Given the description of an element on the screen output the (x, y) to click on. 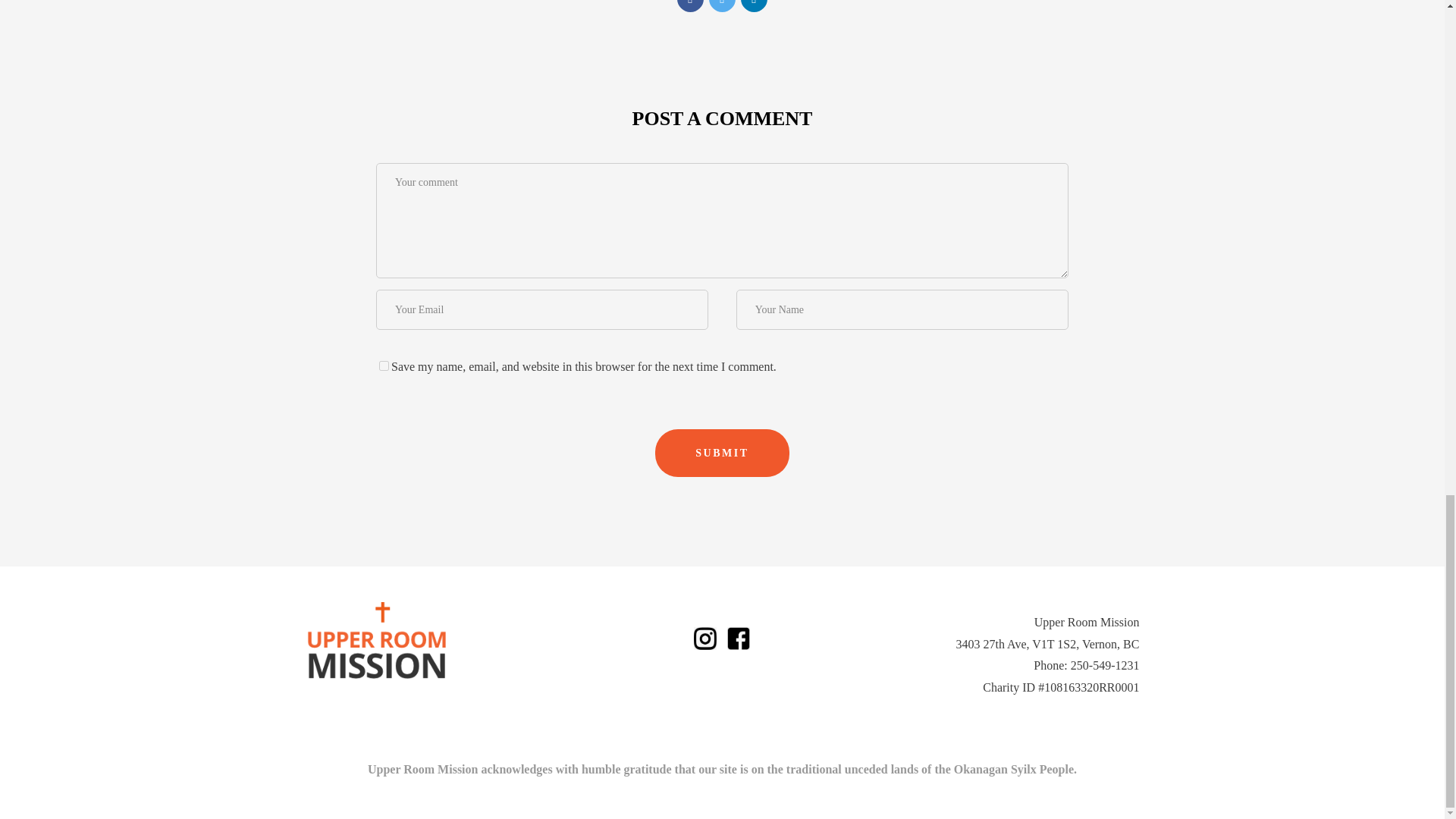
Submit (722, 452)
yes (383, 366)
